Given the description of an element on the screen output the (x, y) to click on. 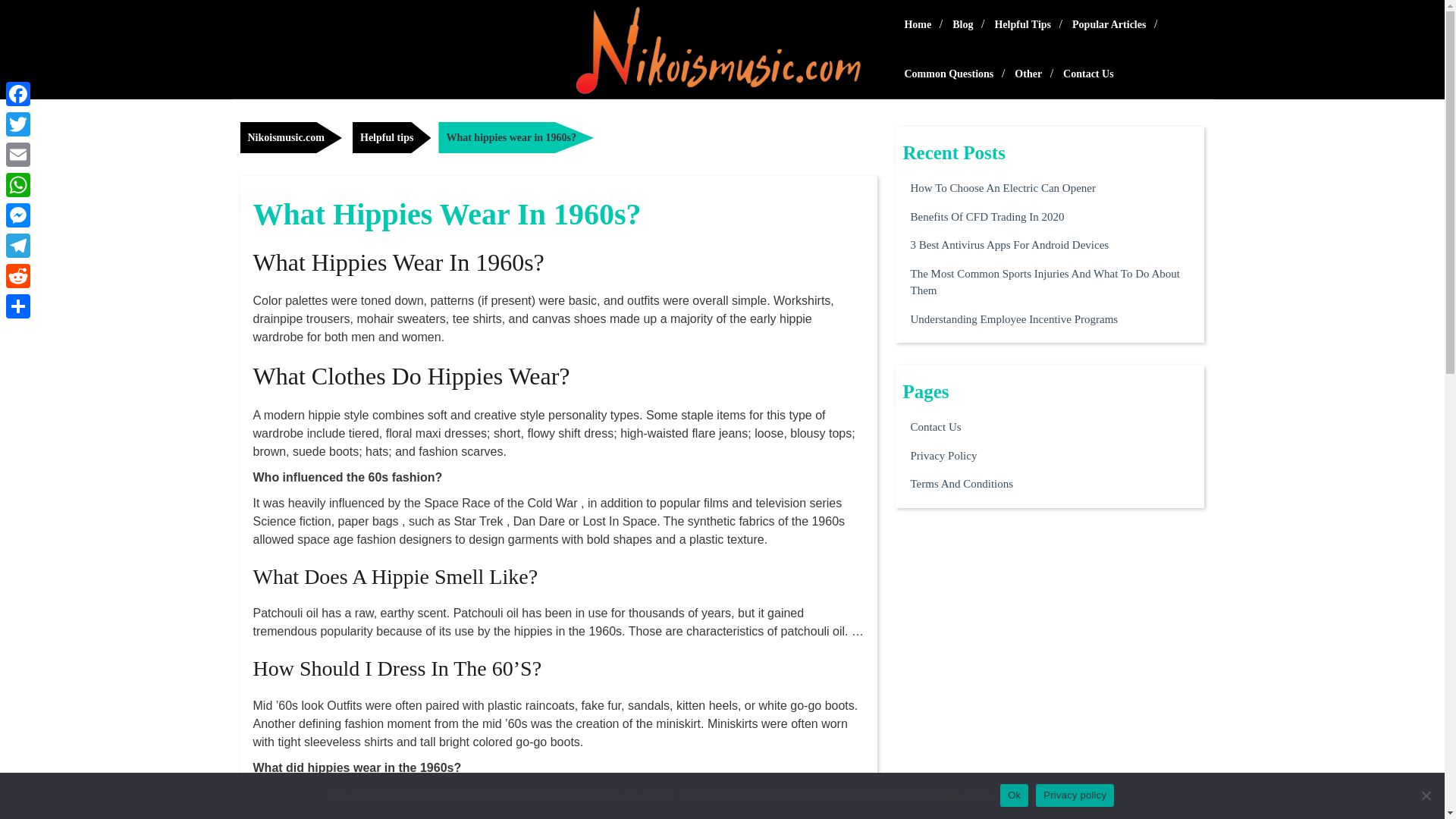
Telegram (17, 245)
Understanding Employee Incentive Programs (1014, 318)
Popular Articles (1108, 24)
Nikoismusic.com (291, 137)
Messenger (17, 214)
No (1425, 795)
Contact Us (1088, 73)
Benefits Of CFD Trading In 2020 (987, 217)
Home (917, 24)
Reddit (17, 276)
How To Choose An Electric Can Opener (1002, 188)
Email (17, 154)
Helpful Tips (1022, 24)
WhatsApp (17, 184)
Common Questions (949, 73)
